Given the description of an element on the screen output the (x, y) to click on. 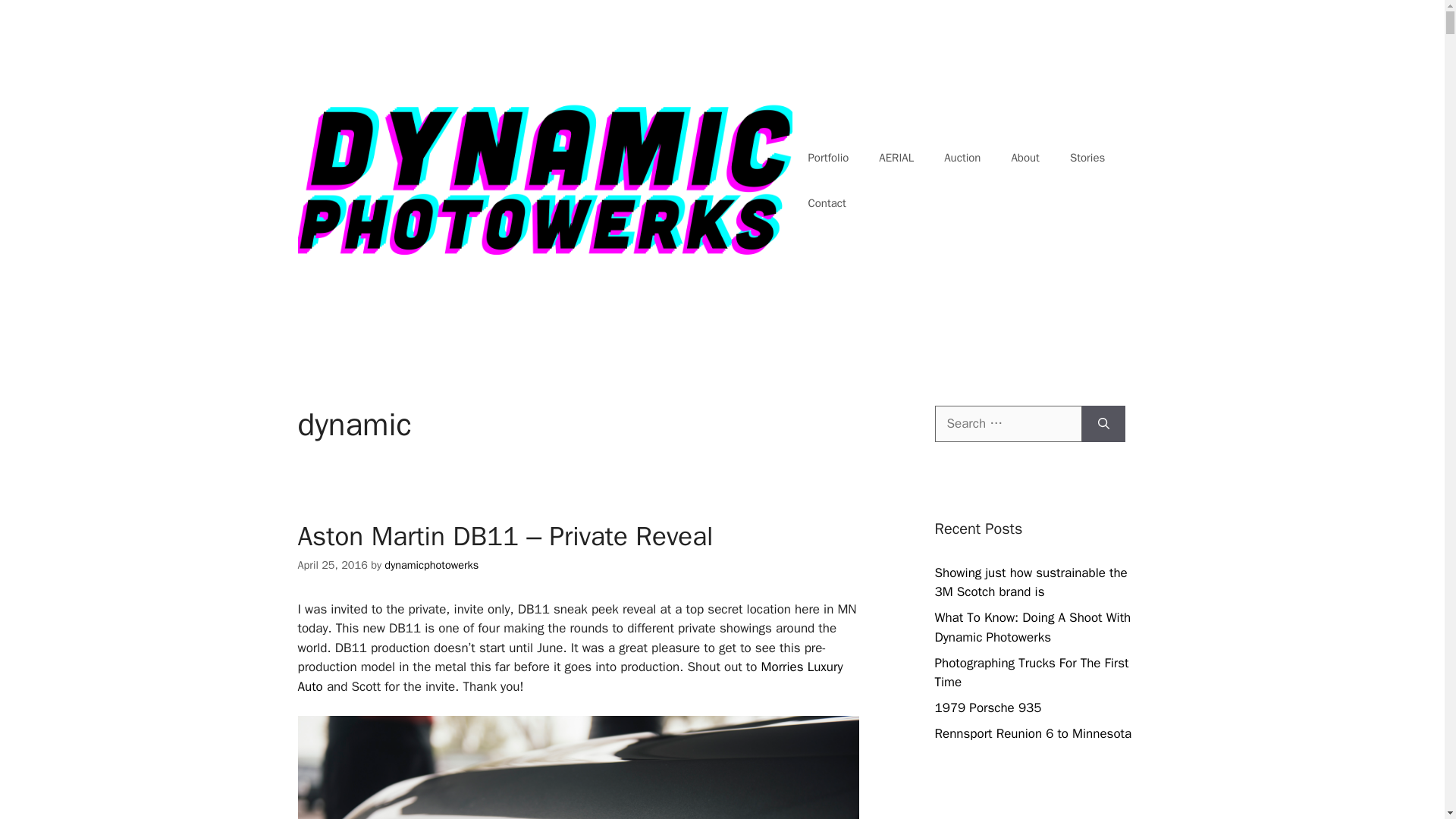
Search for: (1007, 423)
Morries Luxury Auto (570, 676)
Contact (826, 203)
Stories (1086, 157)
dynamicphotowerks (431, 564)
Portfolio (827, 157)
Auction (961, 157)
About (1024, 157)
AERIAL (895, 157)
View all posts by dynamicphotowerks (431, 564)
